Given the description of an element on the screen output the (x, y) to click on. 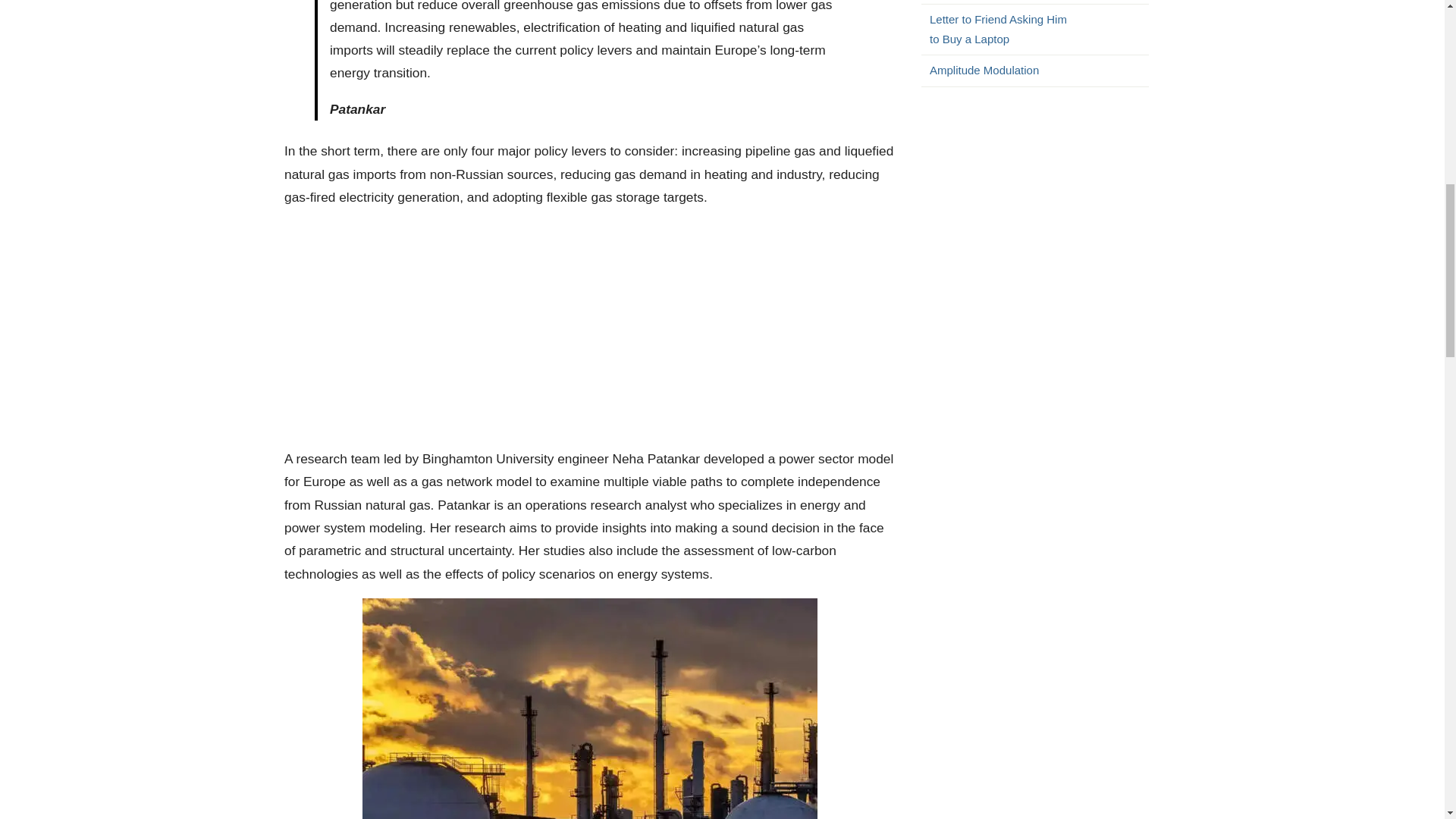
Letter to Friend Asking Him to Buy a Laptop (1039, 29)
Amplitude Modulation (1039, 70)
Advertisement (589, 327)
